Given the description of an element on the screen output the (x, y) to click on. 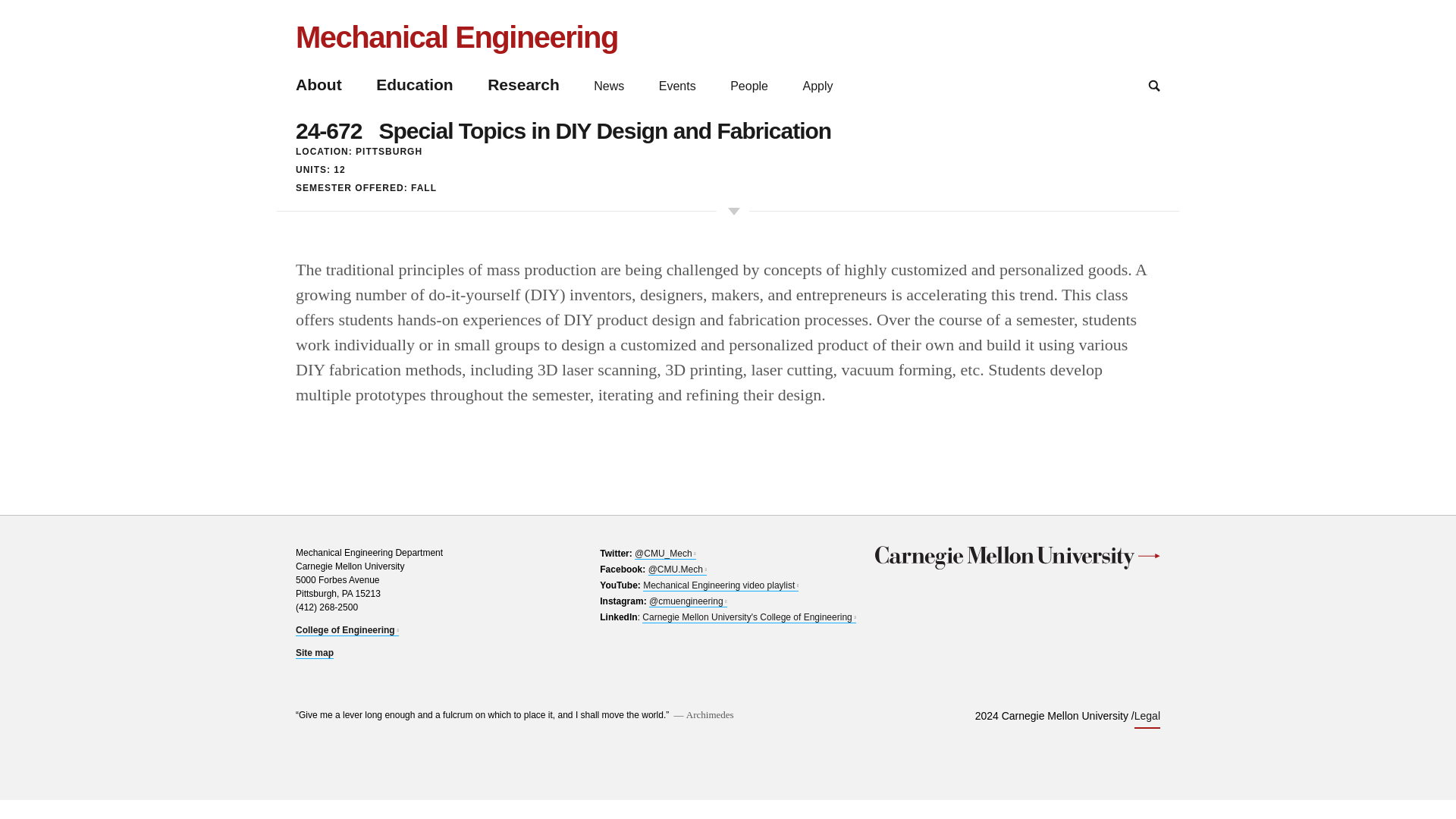
Site map (346, 630)
Mechanical Engineering (314, 653)
Search (456, 36)
Search (1154, 85)
Research (1154, 85)
About (523, 84)
Education (318, 84)
